Given the description of an element on the screen output the (x, y) to click on. 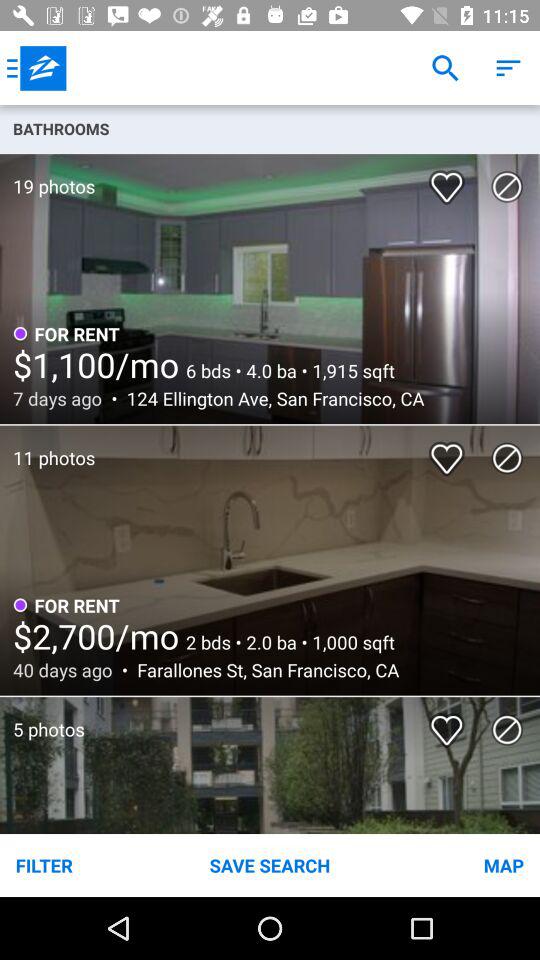
select icon next to save search (450, 864)
